Given the description of an element on the screen output the (x, y) to click on. 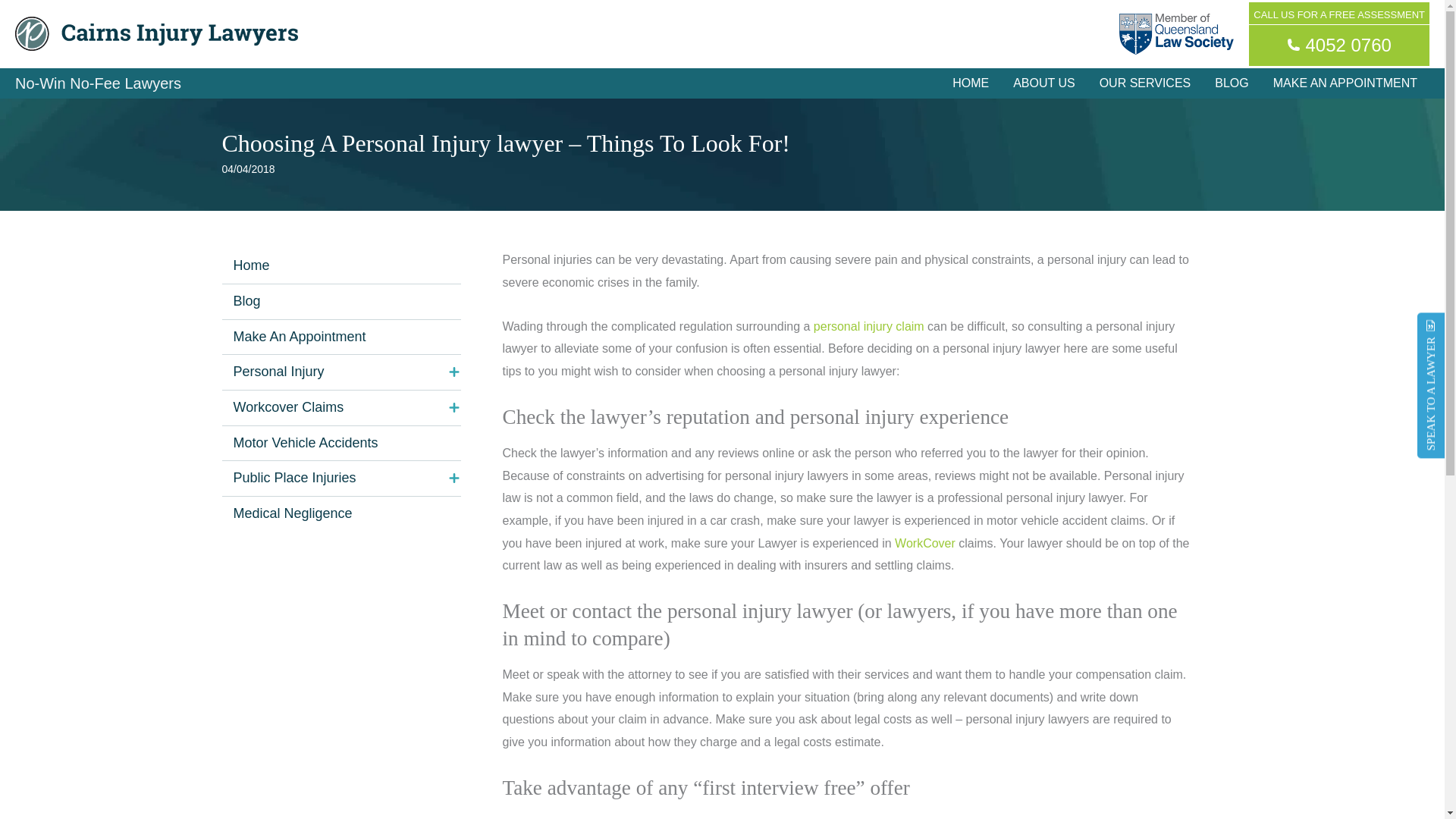
Workcover Claims (340, 407)
ABOUT US (1044, 83)
BLOG (1231, 83)
MAKE AN APPOINTMENT (1344, 83)
Make An Appointment (340, 337)
Blog (340, 301)
Personal Injury (340, 371)
Medical Negligence (340, 513)
HOME (970, 83)
OUR SERVICES (1145, 83)
Public Place Injuries (340, 478)
Home (340, 265)
Motor Vehicle Accidents (340, 443)
personal injury claim (866, 326)
4052 0760 (1339, 44)
